Given the description of an element on the screen output the (x, y) to click on. 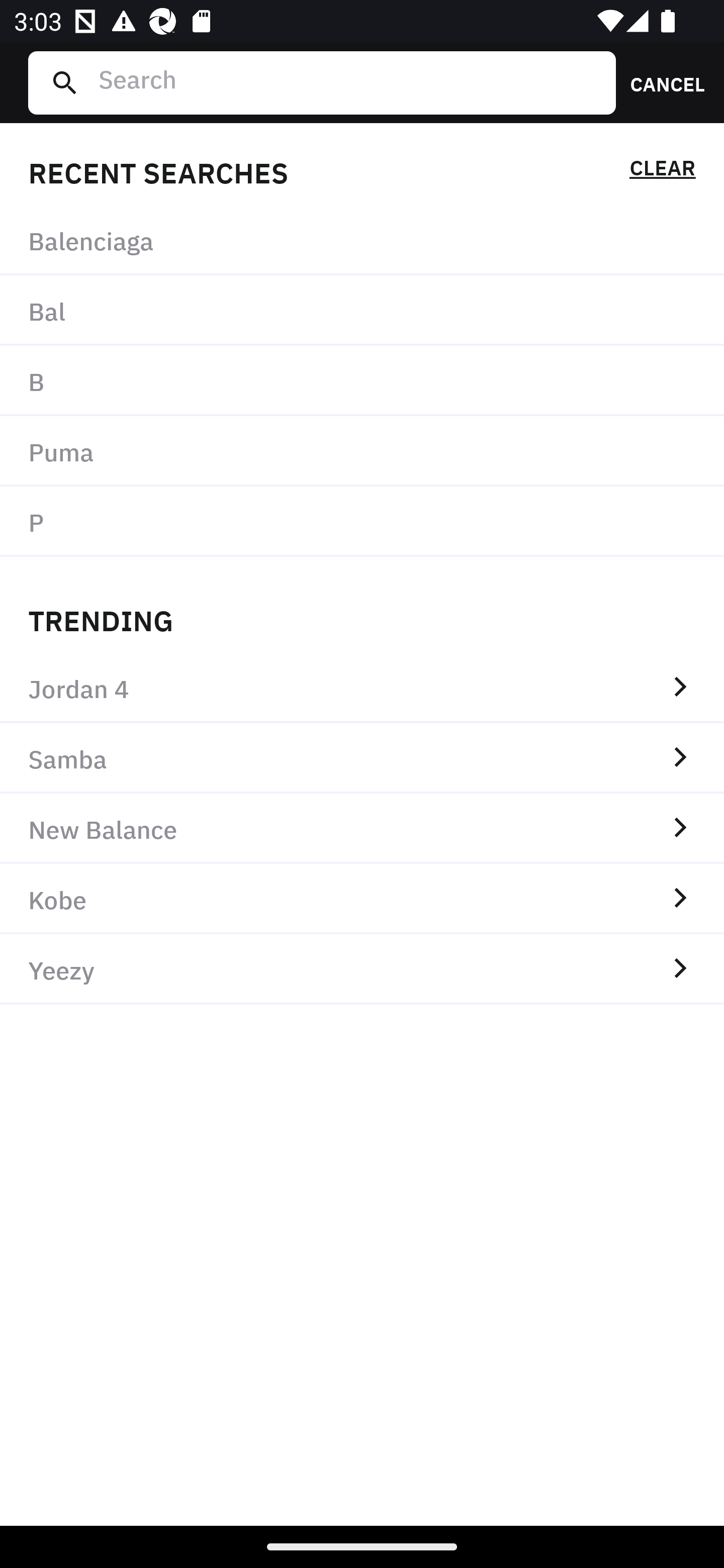
CANCEL (660, 82)
Search (349, 82)
CLEAR (662, 170)
Balenciaga (362, 240)
Bal (362, 310)
B (362, 380)
Puma (362, 450)
P (362, 521)
Jordan 4  (362, 687)
Samba  (362, 757)
New Balance  (362, 828)
Kobe  (362, 898)
Yeezy  (362, 969)
